Given the description of an element on the screen output the (x, y) to click on. 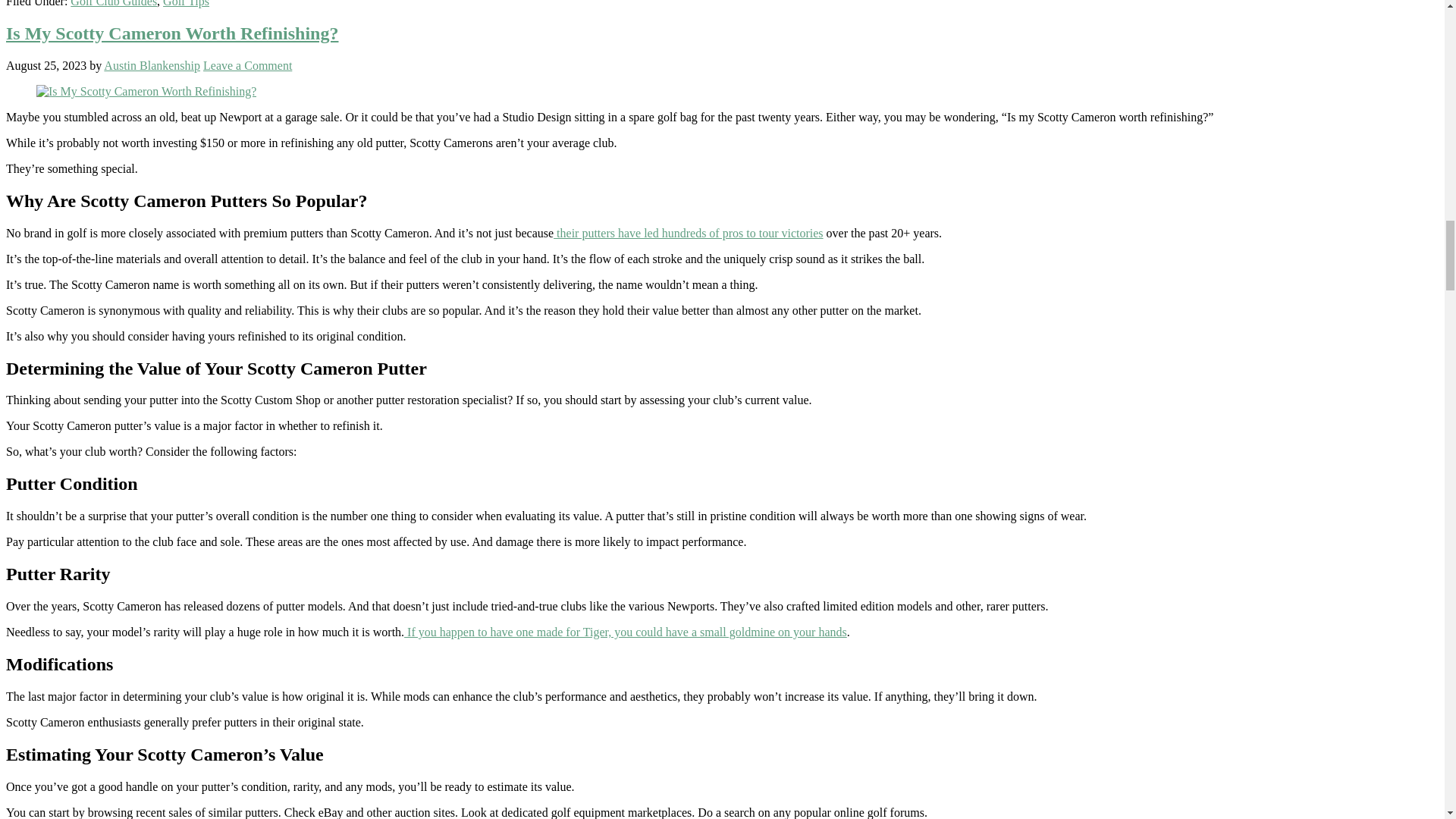
Leave a Comment (247, 65)
Golf Club Guides (113, 3)
Austin Blankenship (151, 65)
Is My Scotty Cameron Worth Refinishing? (171, 33)
Golf Tips (186, 3)
their putters have led hundreds of pros to tour victories (687, 232)
